Given the description of an element on the screen output the (x, y) to click on. 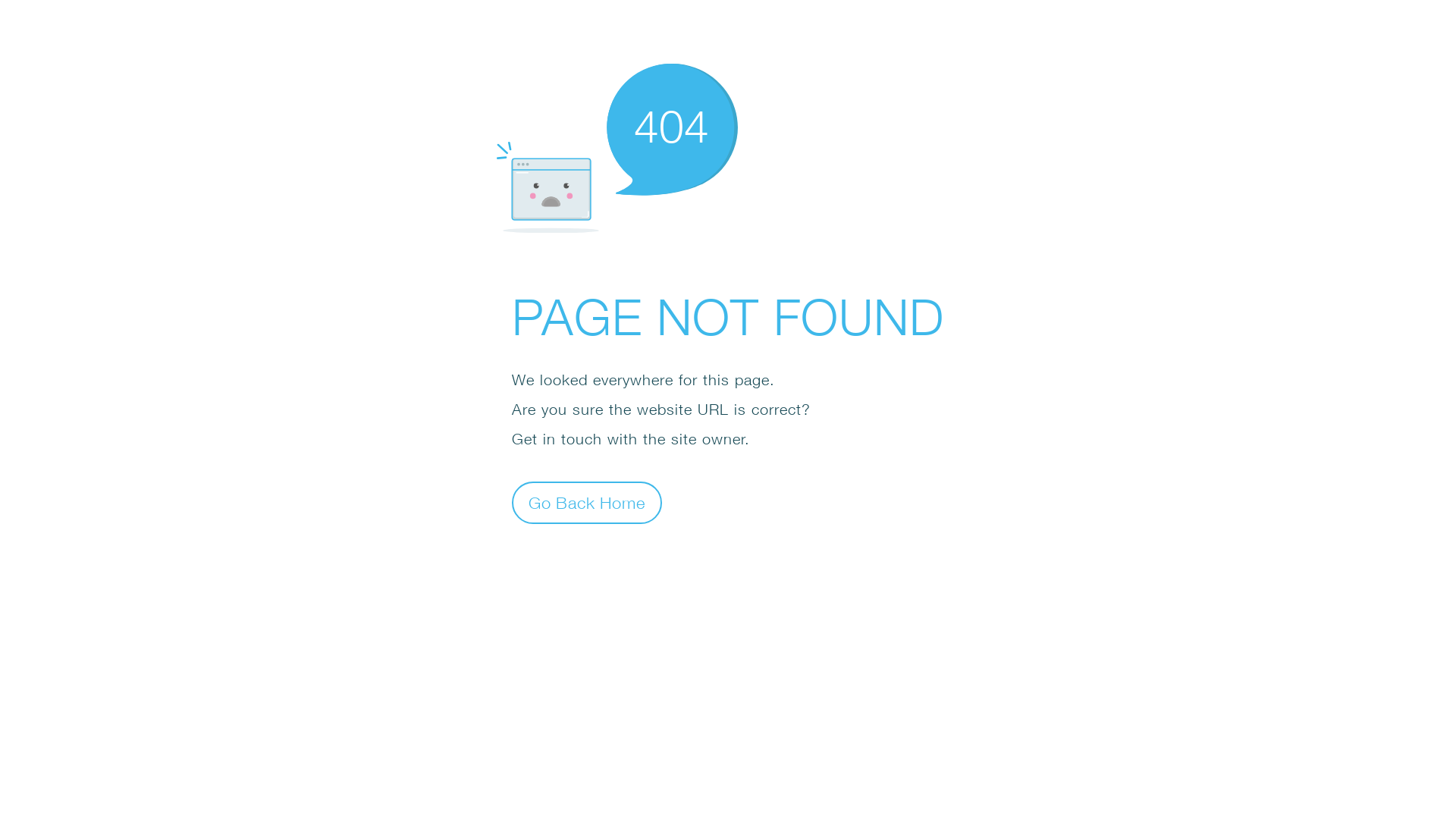
Go Back Home Element type: text (586, 502)
